Given the description of an element on the screen output the (x, y) to click on. 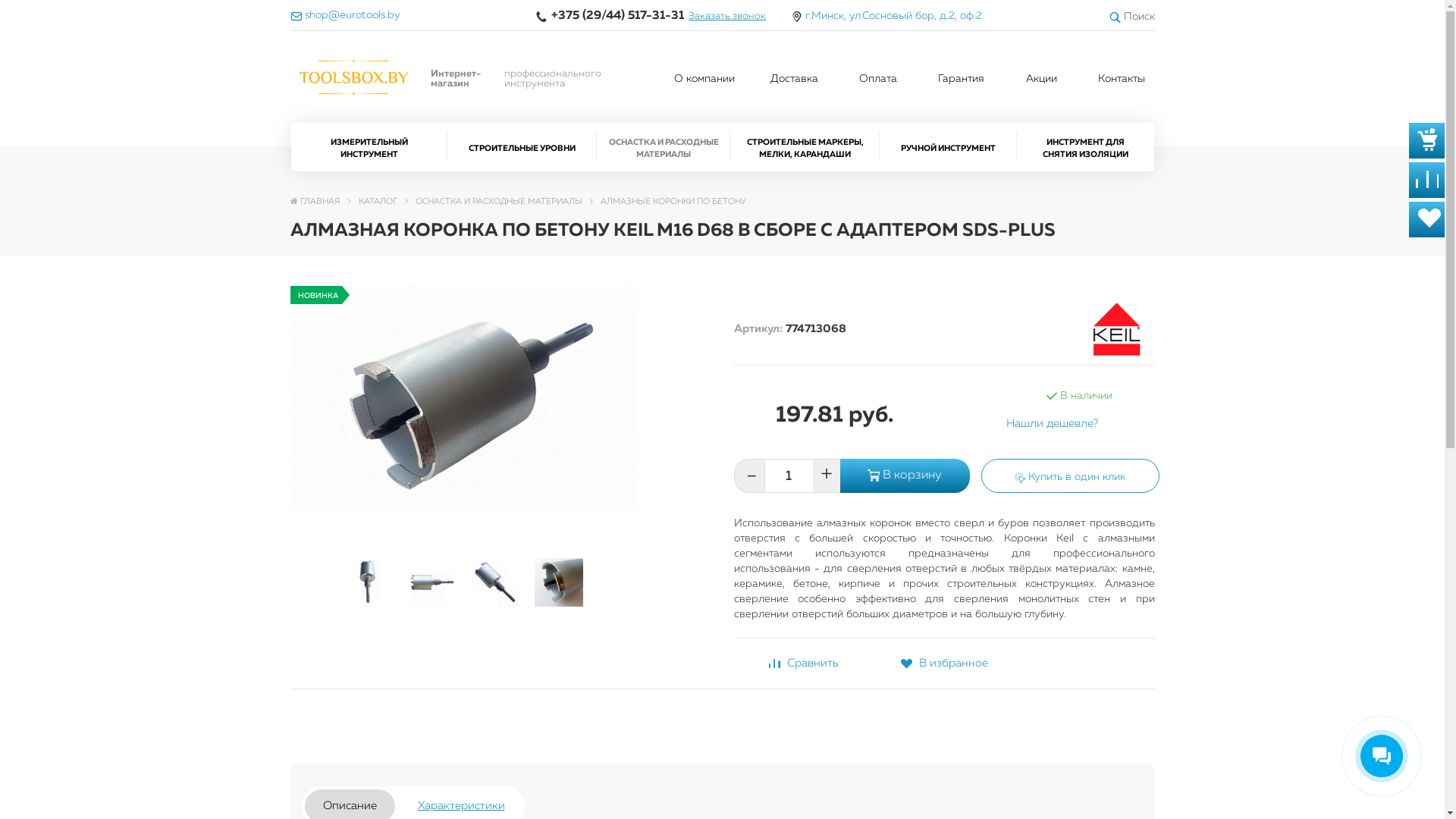
shop@eurotools.by Element type: text (350, 14)
- Element type: text (749, 475)
+ Element type: text (826, 475)
